Given the description of an element on the screen output the (x, y) to click on. 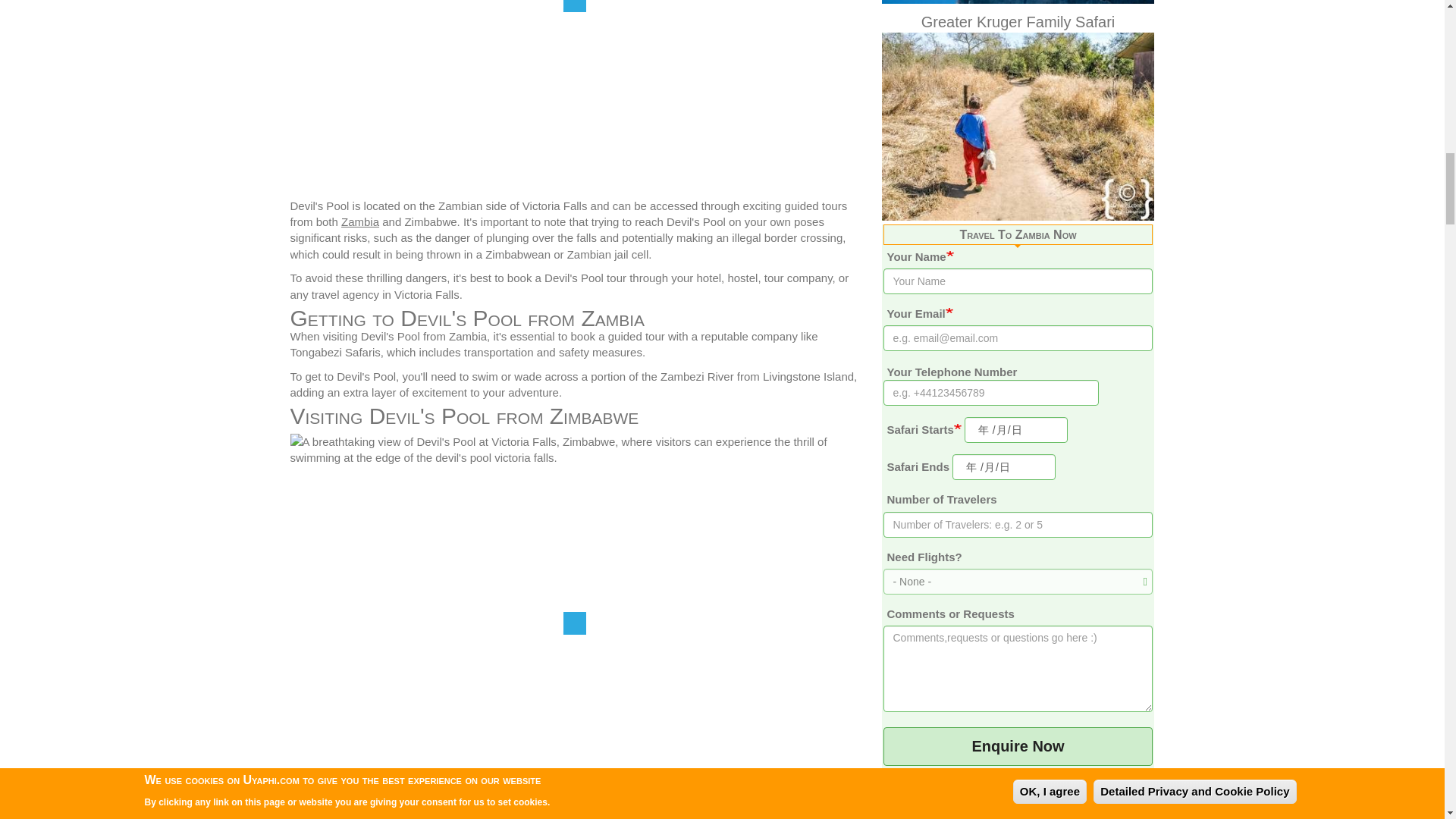
Zambia (359, 221)
Enquire Now (1017, 746)
location-accessibility.jpg (574, 95)
